Given the description of an element on the screen output the (x, y) to click on. 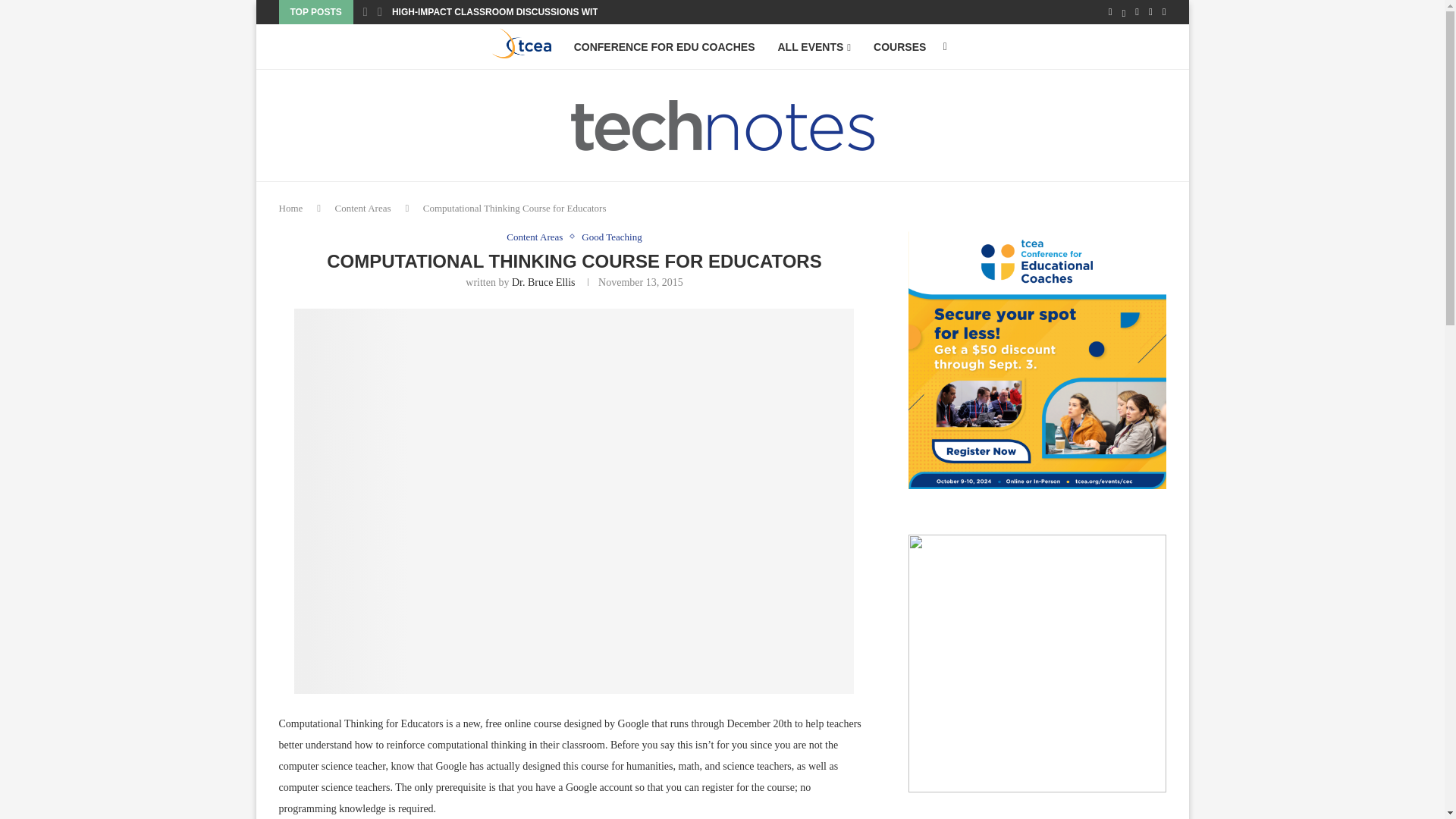
Content Areas (538, 236)
Dr. Bruce Ellis (543, 282)
CONFERENCE FOR EDU COACHES (664, 46)
Home (290, 207)
HIGH-IMPACT CLASSROOM DISCUSSIONS WITH GOOGLE (518, 12)
Good Teaching (611, 236)
COURSES (899, 46)
Content Areas (362, 207)
ALL EVENTS (813, 47)
